Given the description of an element on the screen output the (x, y) to click on. 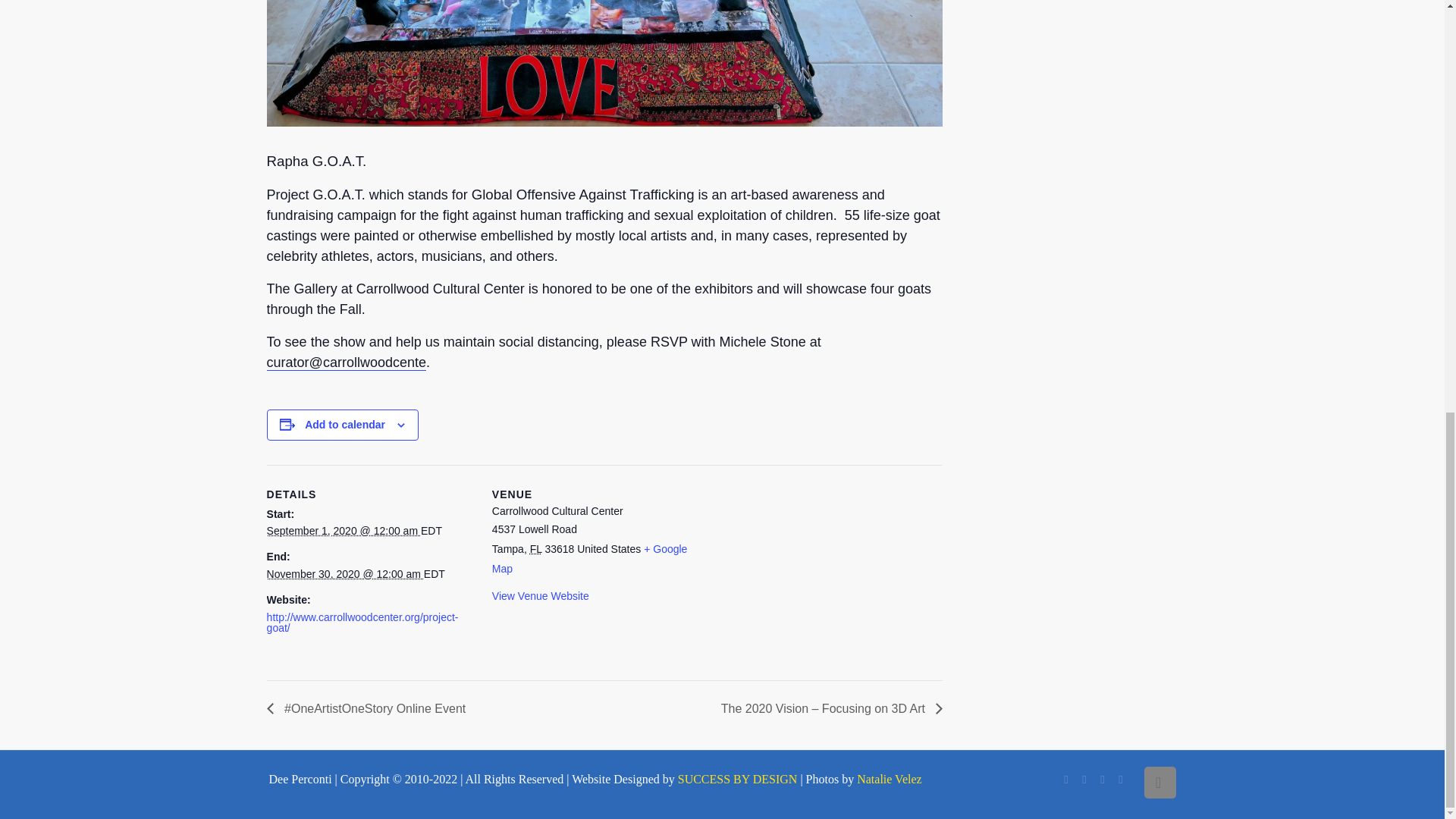
Facebook (1066, 779)
View Venue Website (540, 595)
Click to view a Google Map (589, 558)
2020-11-30 (344, 573)
LinkedIn (1085, 779)
RSS (1121, 779)
SUCCESS BY DESIGN (737, 779)
Add to calendar (344, 424)
Instagram (1102, 779)
2020-09-01 (343, 530)
